Given the description of an element on the screen output the (x, y) to click on. 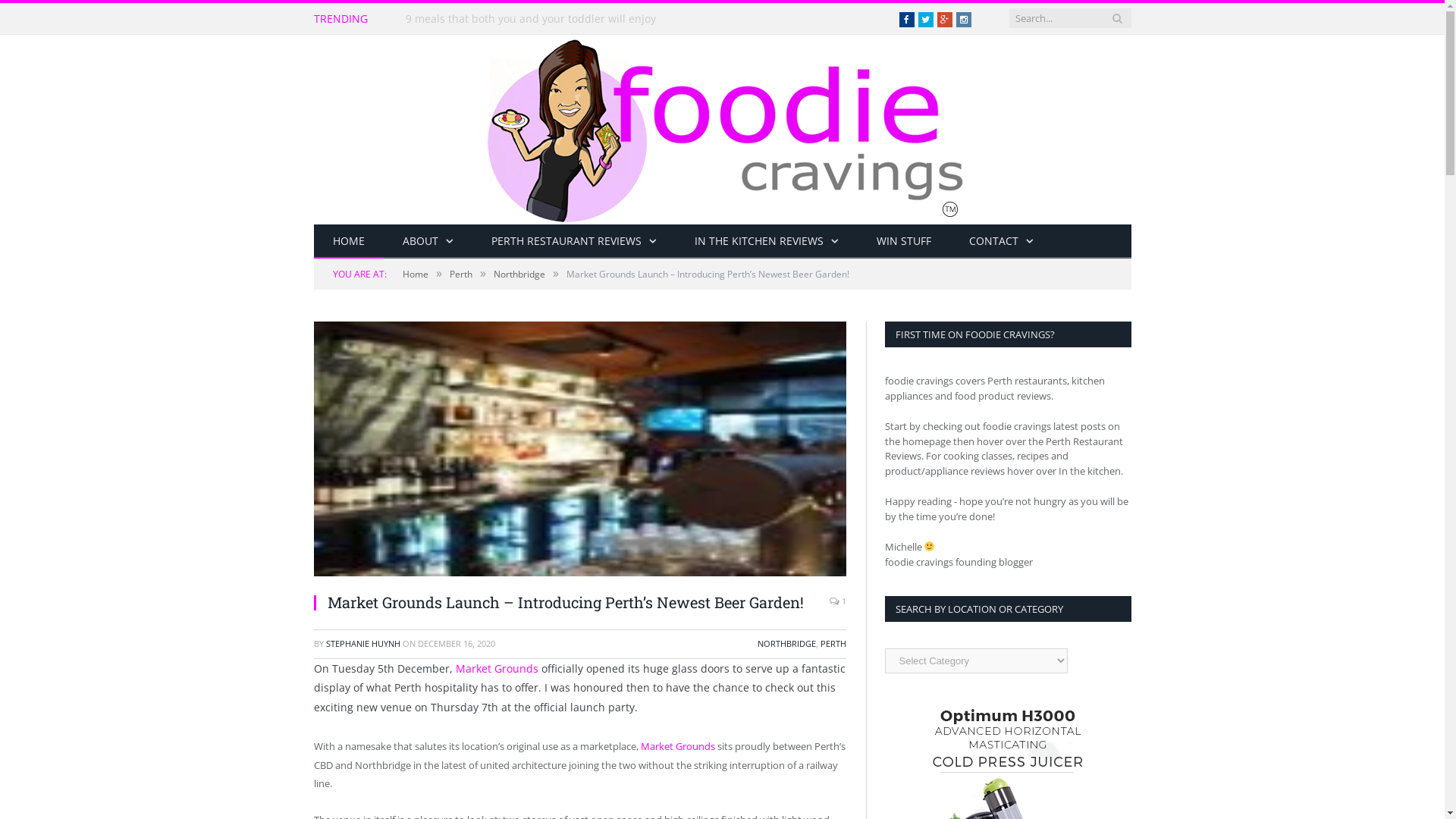
1 Element type: text (837, 600)
IN THE KITCHEN REVIEWS Element type: text (765, 241)
NORTHBRIDGE Element type: text (785, 643)
PERTH Element type: text (833, 643)
Home Element type: text (414, 273)
HOME Element type: text (348, 241)
CONTACT Element type: text (1000, 241)
WIN STUFF Element type: text (902, 241)
foodie cravings, a Perth food blog Element type: hover (722, 125)
STEPHANIE HUYNH Element type: text (363, 643)
Northbridge Element type: text (518, 273)
Market Grounds Element type: text (677, 746)
ABOUT Element type: text (427, 241)
Google+ Element type: text (944, 19)
Facebook Element type: text (906, 19)
Twitter Element type: text (924, 19)
Perth Element type: text (459, 273)
Market Grounds Element type: text (496, 668)
PERTH RESTAURANT REVIEWS Element type: text (572, 241)
instagram Element type: text (962, 19)
